Given the description of an element on the screen output the (x, y) to click on. 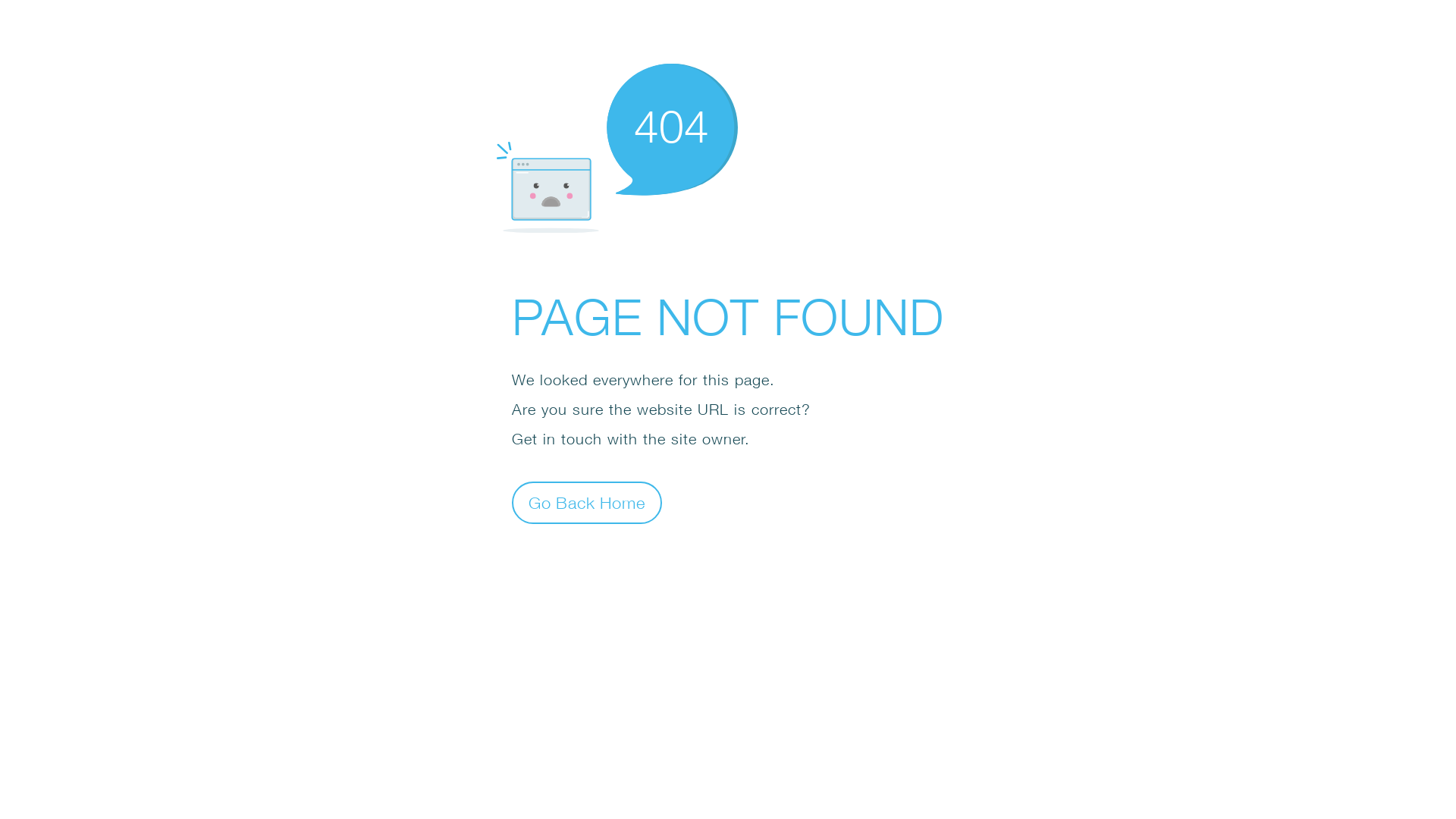
Go Back Home Element type: text (586, 502)
